Given the description of an element on the screen output the (x, y) to click on. 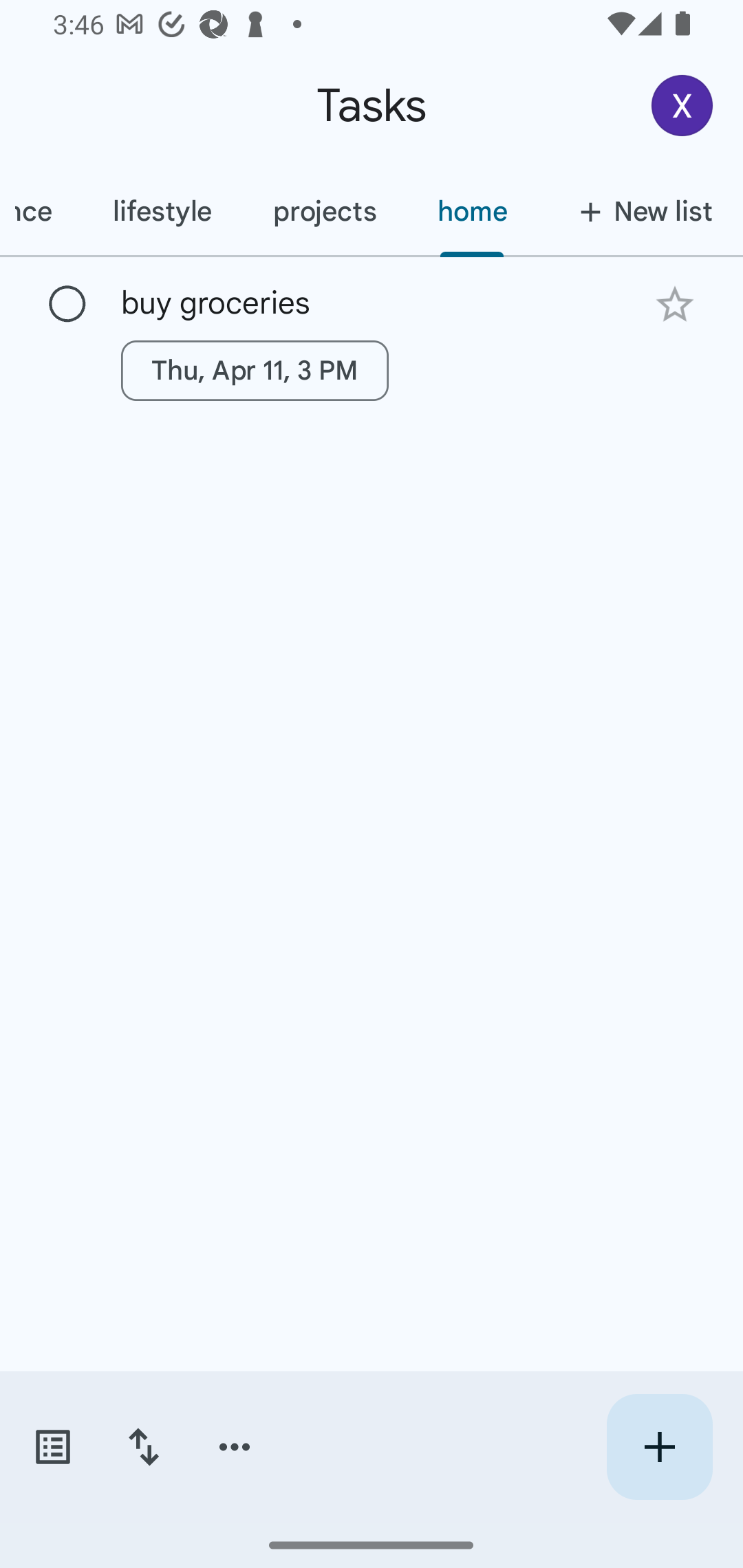
lifestyle (161, 211)
projects (324, 211)
New list (640, 211)
Add star (674, 303)
Mark as complete (67, 304)
Thu, Apr 11, 3 PM (254, 369)
Switch task lists (52, 1447)
Create new task (659, 1446)
Change sort order (143, 1446)
More options (234, 1446)
